Given the description of an element on the screen output the (x, y) to click on. 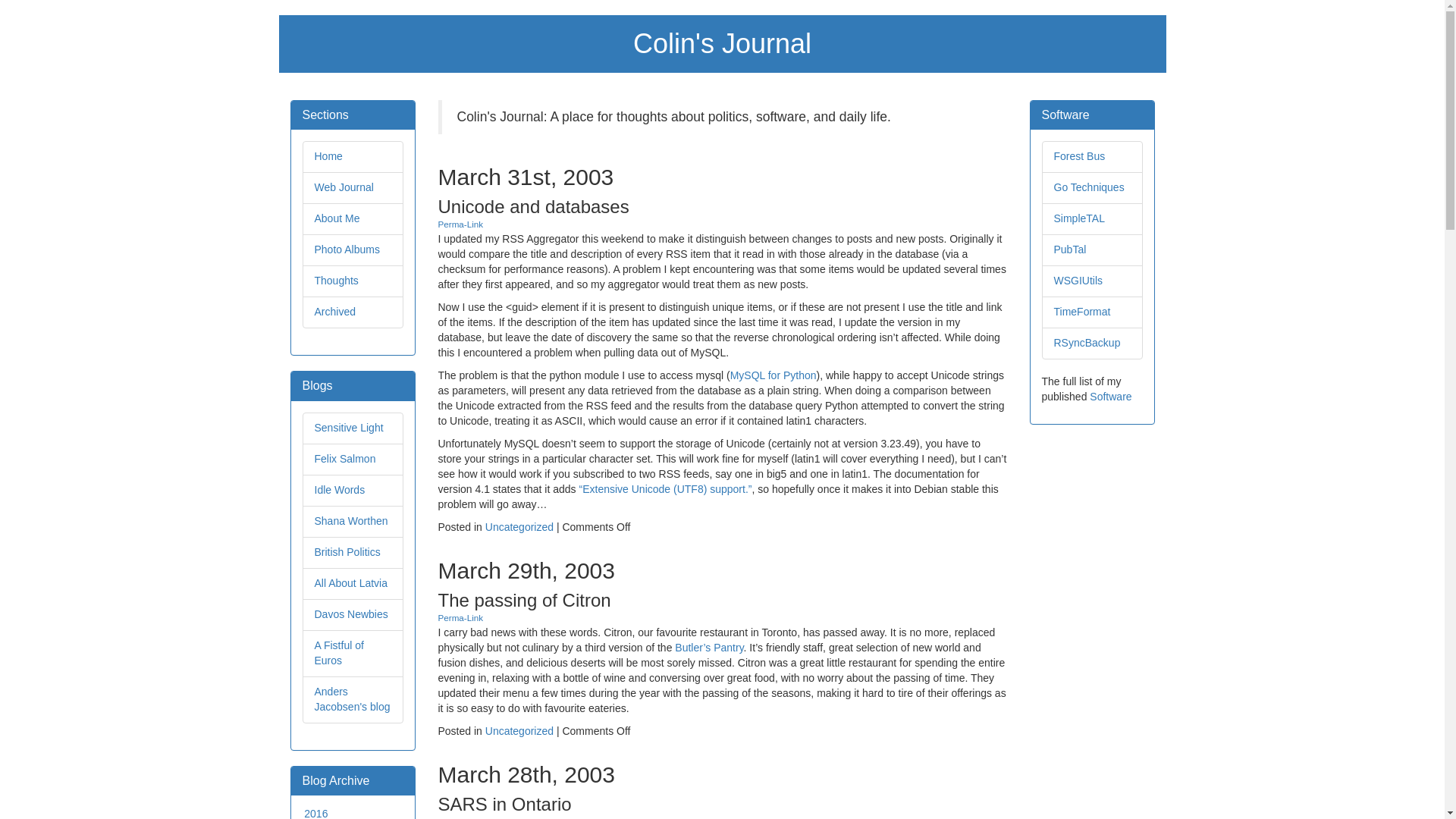
Perma-Link (460, 817)
Uncategorized (518, 526)
Colin's Journal (721, 42)
Web Journal (343, 186)
Permanent Link to Unicode and databases (460, 224)
My partner's weblog, tales of a medieval academic (350, 521)
Permanent Link to The passing of Citron (460, 617)
Uncategorized (518, 730)
Perma-Link (460, 617)
